Given the description of an element on the screen output the (x, y) to click on. 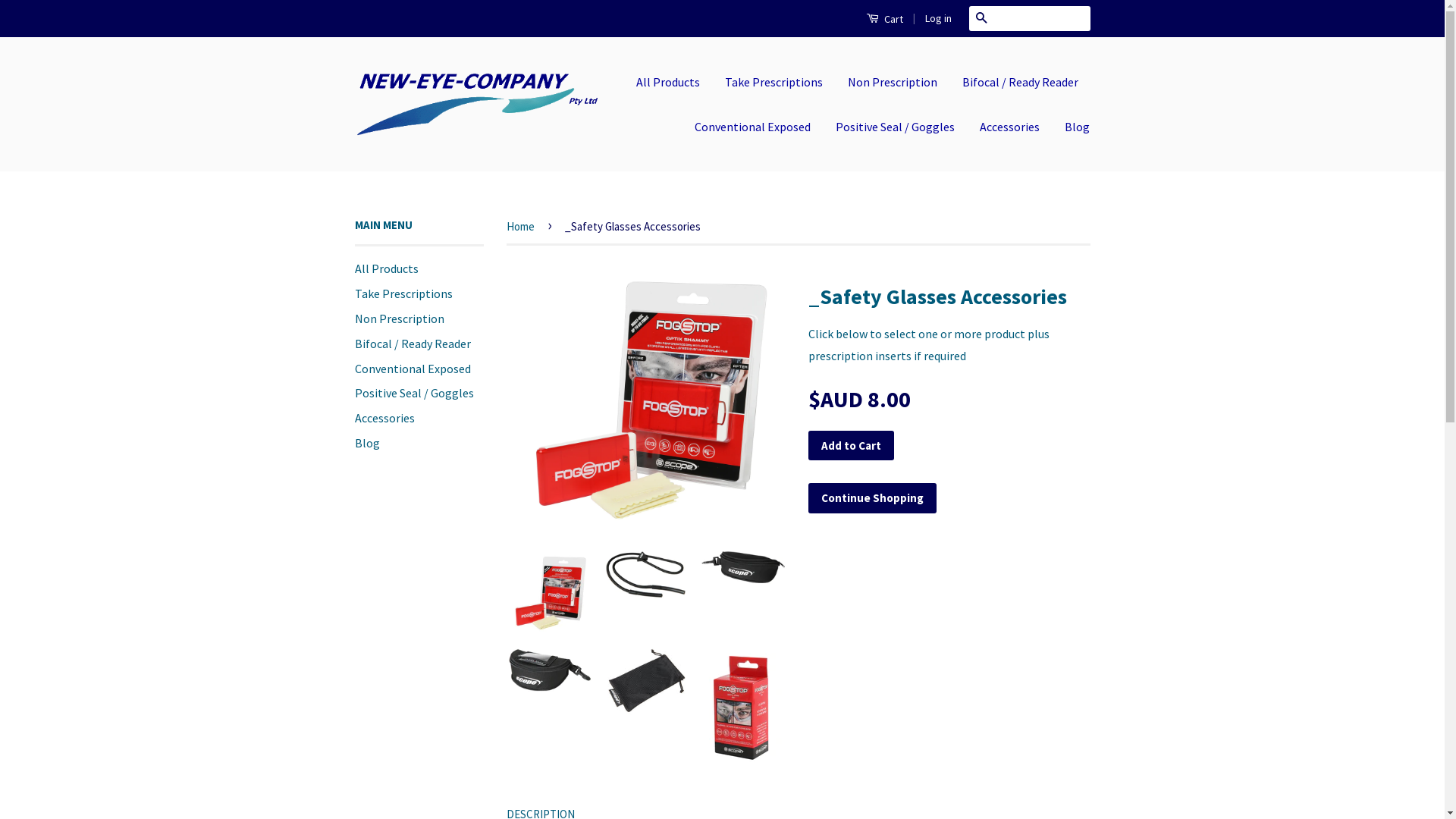
Conventional Exposed Element type: text (752, 126)
Conventional Exposed Element type: text (412, 368)
Continue Shopping Element type: text (872, 497)
Bifocal / Ready Reader Element type: text (412, 343)
Search Element type: text (981, 18)
All Products Element type: text (673, 81)
Blog Element type: text (1071, 126)
Positive Seal / Goggles Element type: text (413, 392)
Bifocal / Ready Reader Element type: text (1019, 81)
All Products Element type: text (386, 268)
Home Element type: text (522, 226)
Non Prescription Element type: text (892, 81)
Cart Element type: text (884, 17)
Non Prescription Element type: text (399, 318)
Positive Seal / Goggles Element type: text (895, 126)
Take Prescriptions Element type: text (403, 293)
Accessories Element type: text (1009, 126)
Blog Element type: text (366, 442)
Take Prescriptions Element type: text (773, 81)
Add to Cart Element type: text (851, 445)
Log in Element type: text (938, 18)
Accessories Element type: text (384, 417)
